Given the description of an element on the screen output the (x, y) to click on. 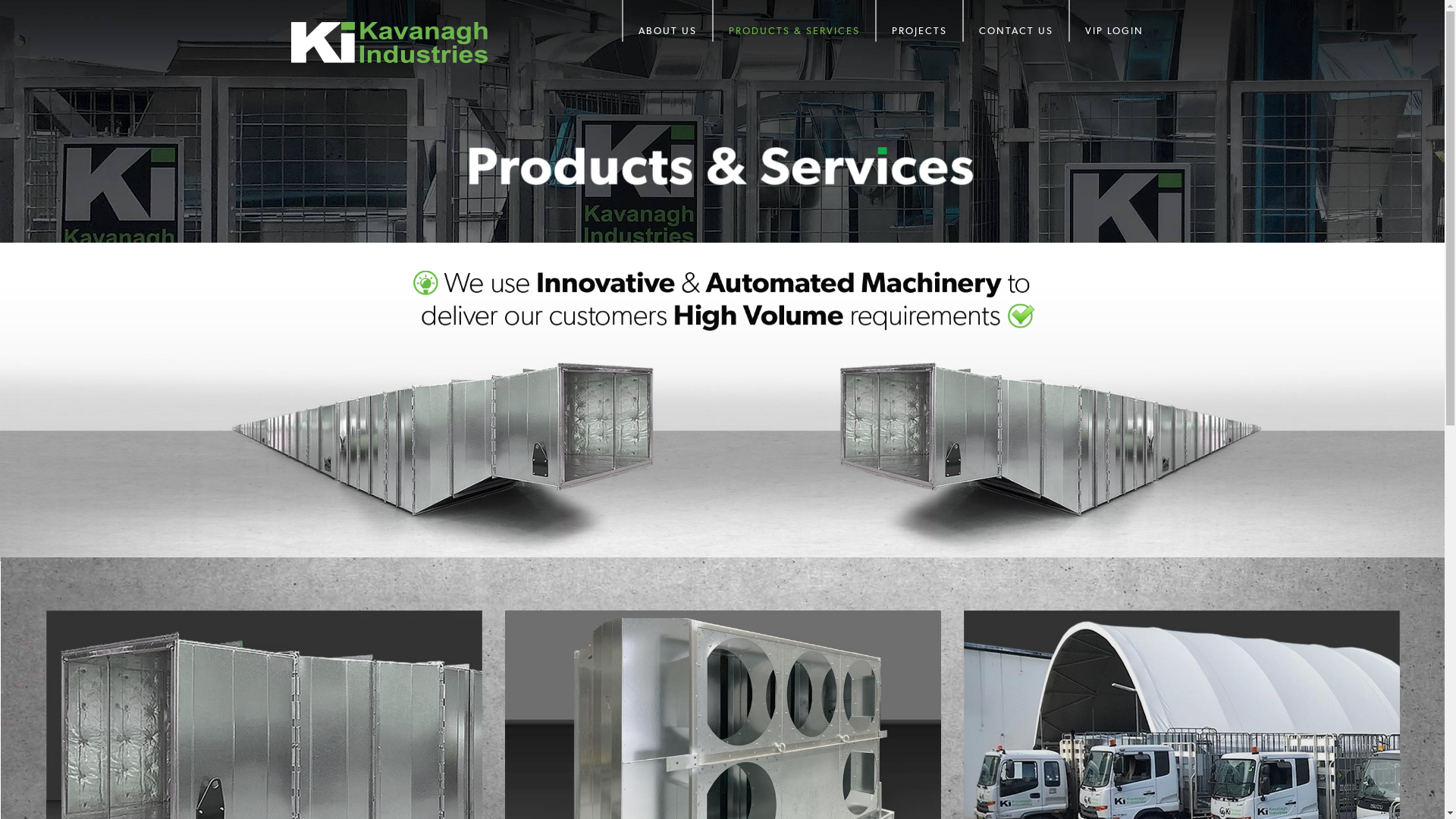
CONTACT US Element type: text (1014, 20)
Kavanagh Industries Element type: hover (388, 42)
PROJECTS Element type: text (918, 20)
VIP LOGIN Element type: text (1104, 20)
ABOUT US Element type: text (666, 20)
PRODUCTS & SERVICES Element type: text (792, 20)
